Given the description of an element on the screen output the (x, y) to click on. 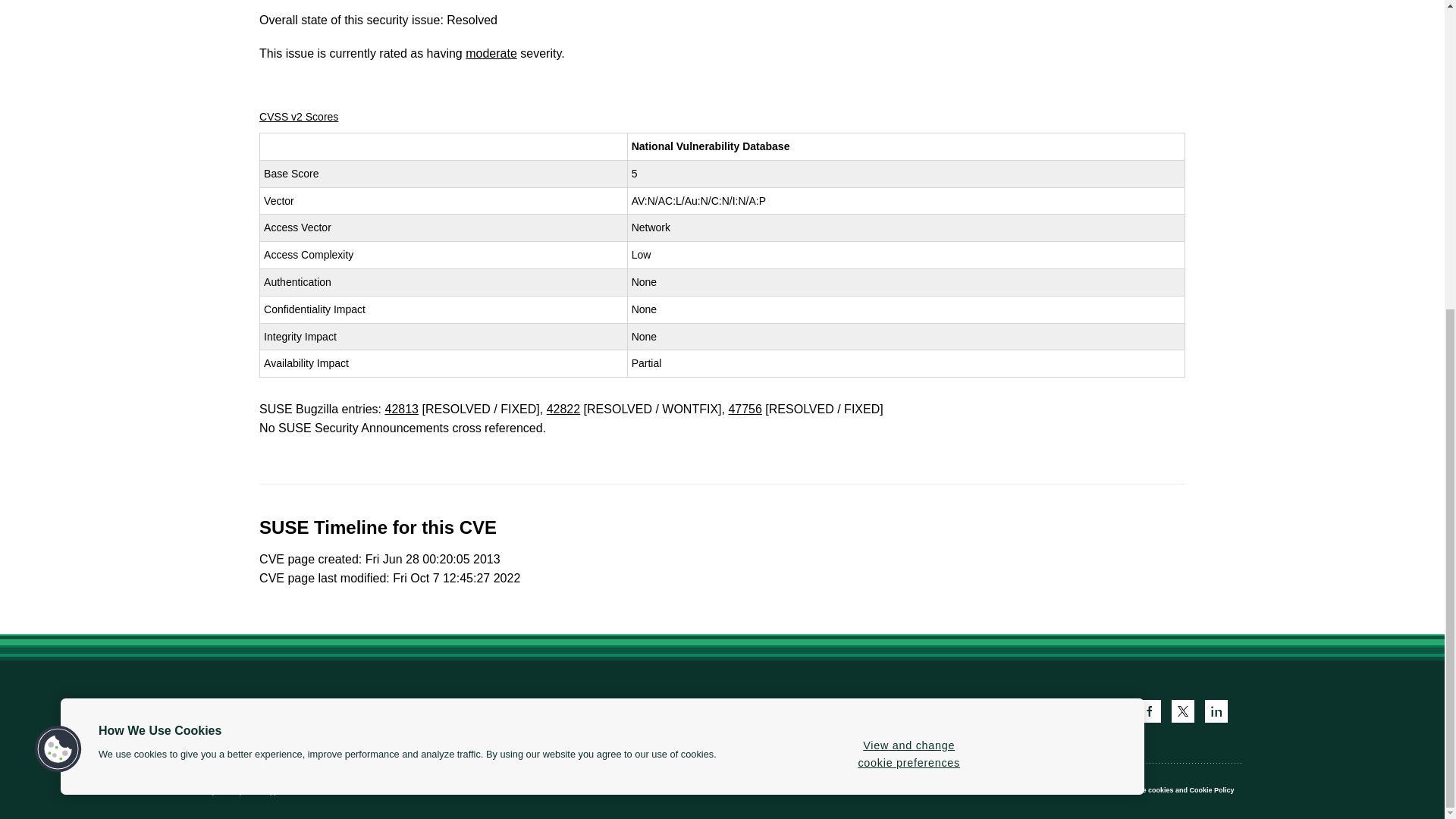
Cookies Button (57, 260)
Carreiras (354, 710)
